Given the description of an element on the screen output the (x, y) to click on. 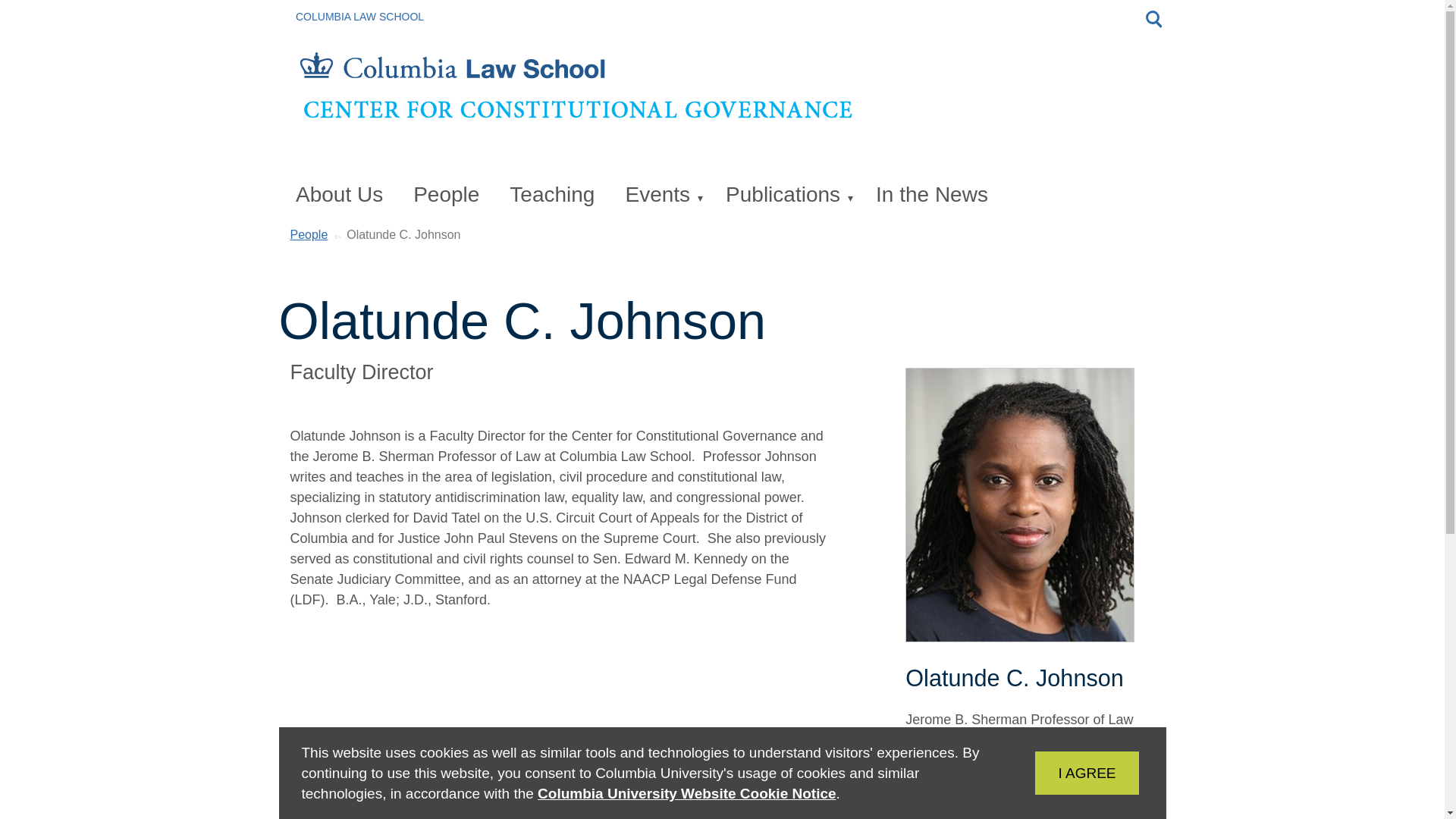
About Us (342, 195)
Toggle search (1153, 18)
People (449, 195)
Columbia University Website Cookie Notice (686, 793)
People (308, 234)
COLUMBIA LAW SCHOOL (1063, 772)
Constitutional Governance (359, 17)
Teaching (719, 100)
Events (554, 195)
Publications (663, 195)
In the News (789, 195)
